Given the description of an element on the screen output the (x, y) to click on. 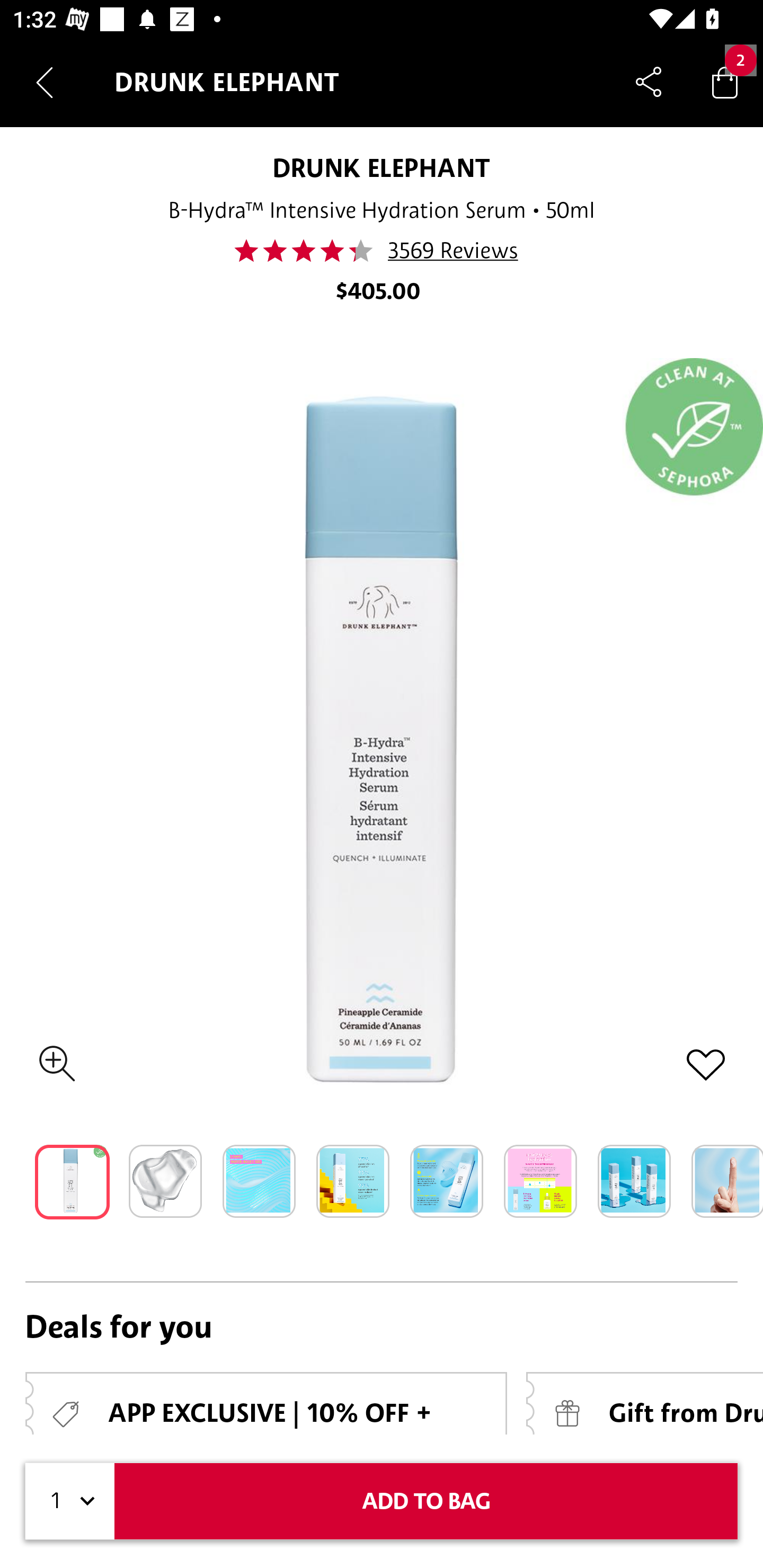
Navigate up (44, 82)
Share (648, 81)
Bag (724, 81)
DRUNK ELEPHANT (381, 167)
43.0 3569 Reviews (381, 250)
1 (69, 1500)
ADD TO BAG (425, 1500)
